Given the description of an element on the screen output the (x, y) to click on. 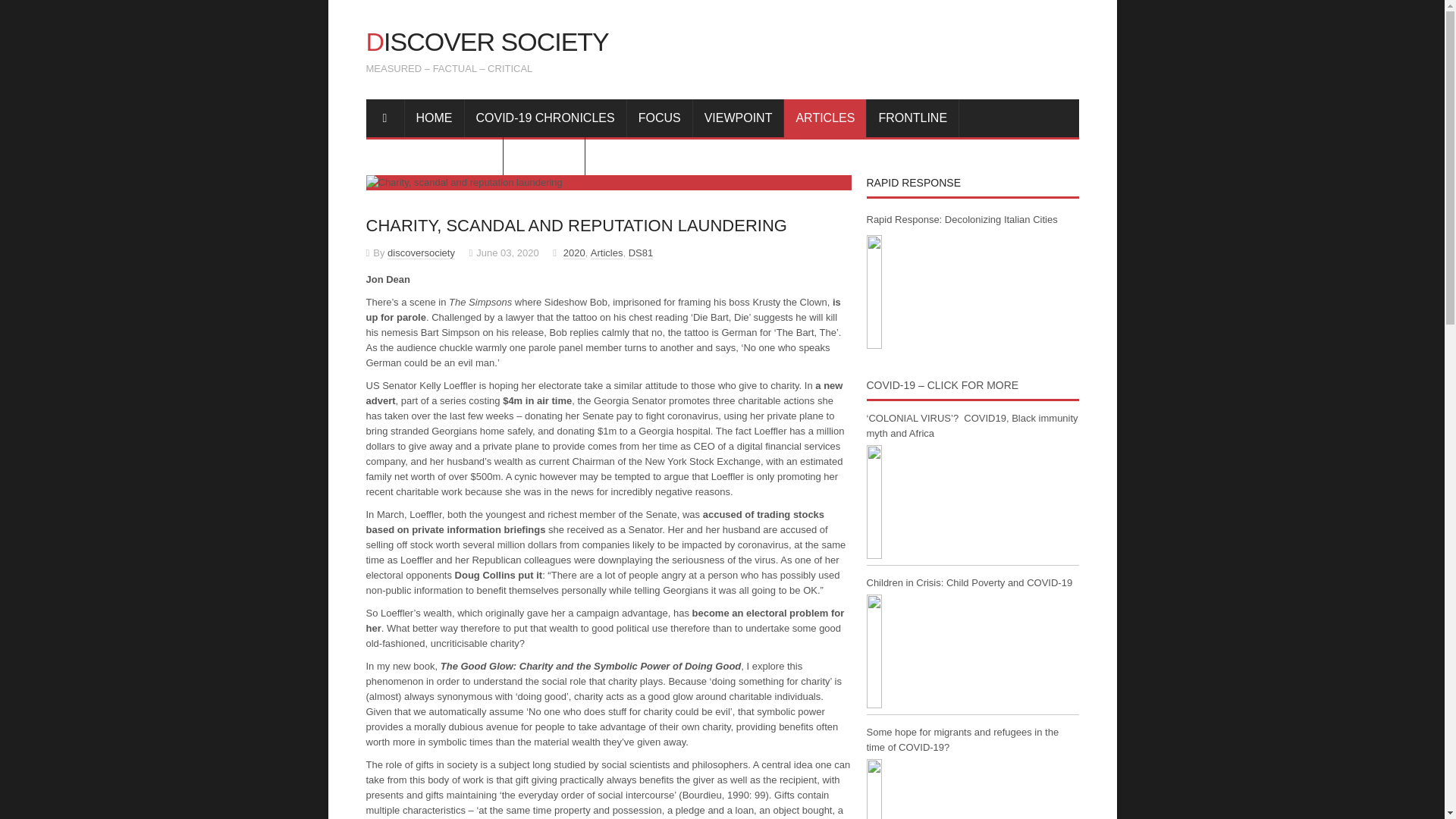
The Good Glow: Charity and the Symbolic Power of Doing Good (591, 665)
HOME (434, 117)
Posts by discoversociety (420, 253)
FRONTLINE (912, 117)
Articles (607, 253)
VIEWPOINT (738, 117)
become an electoral problem for her (604, 619)
is up for parole (602, 308)
DS81 (640, 253)
FOCUS (660, 117)
Rapid Response: Decolonizing Italian Cities (922, 291)
discoversociety (420, 253)
a new advert (604, 392)
DISCOVER SOCIETY (486, 41)
